Given the description of an element on the screen output the (x, y) to click on. 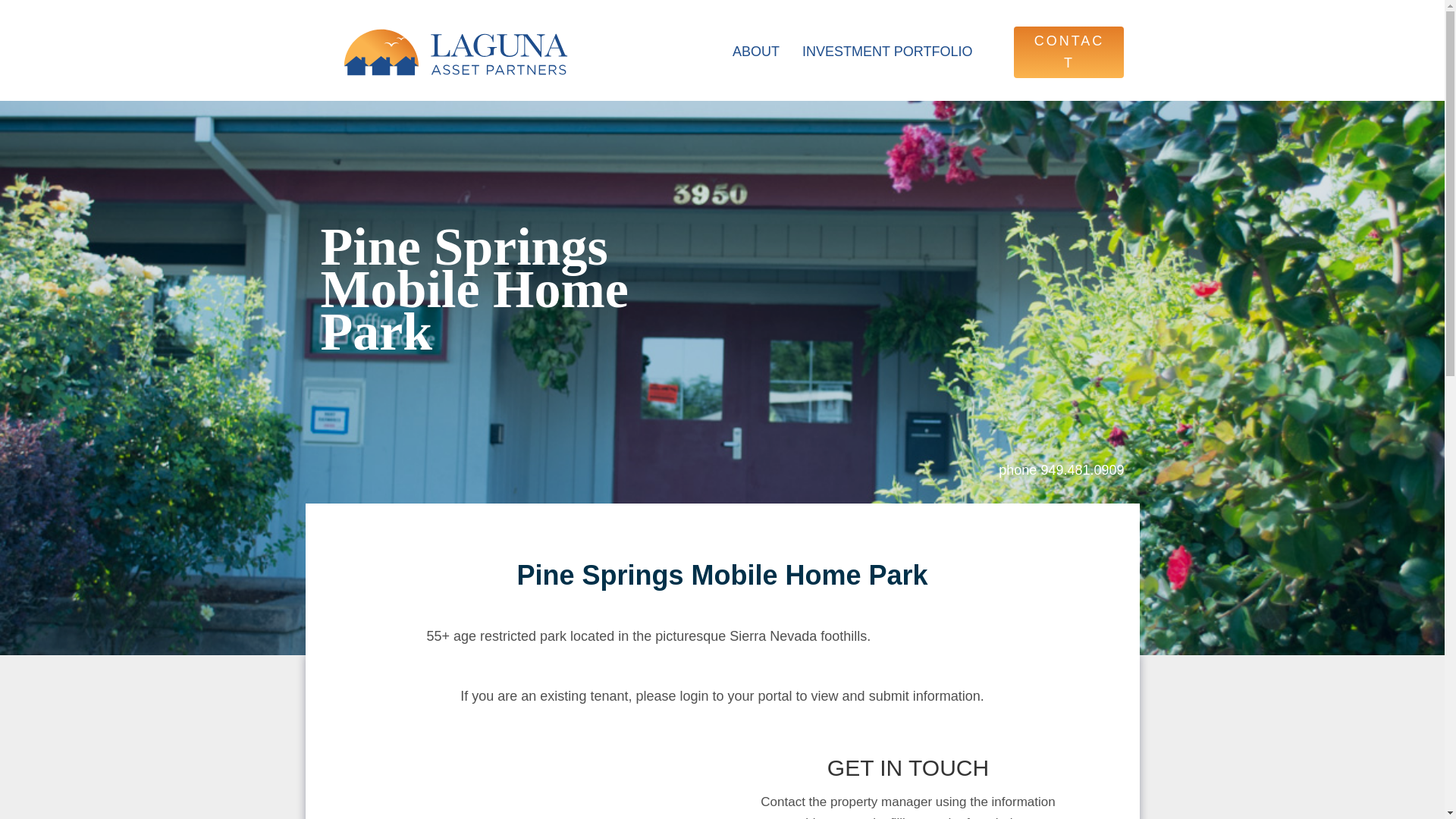
ABOUT (755, 51)
Full-LAP-Logo-Multicolored (454, 52)
CONTACT (1068, 51)
INVESTMENT PORTFOLIO (887, 51)
